Given the description of an element on the screen output the (x, y) to click on. 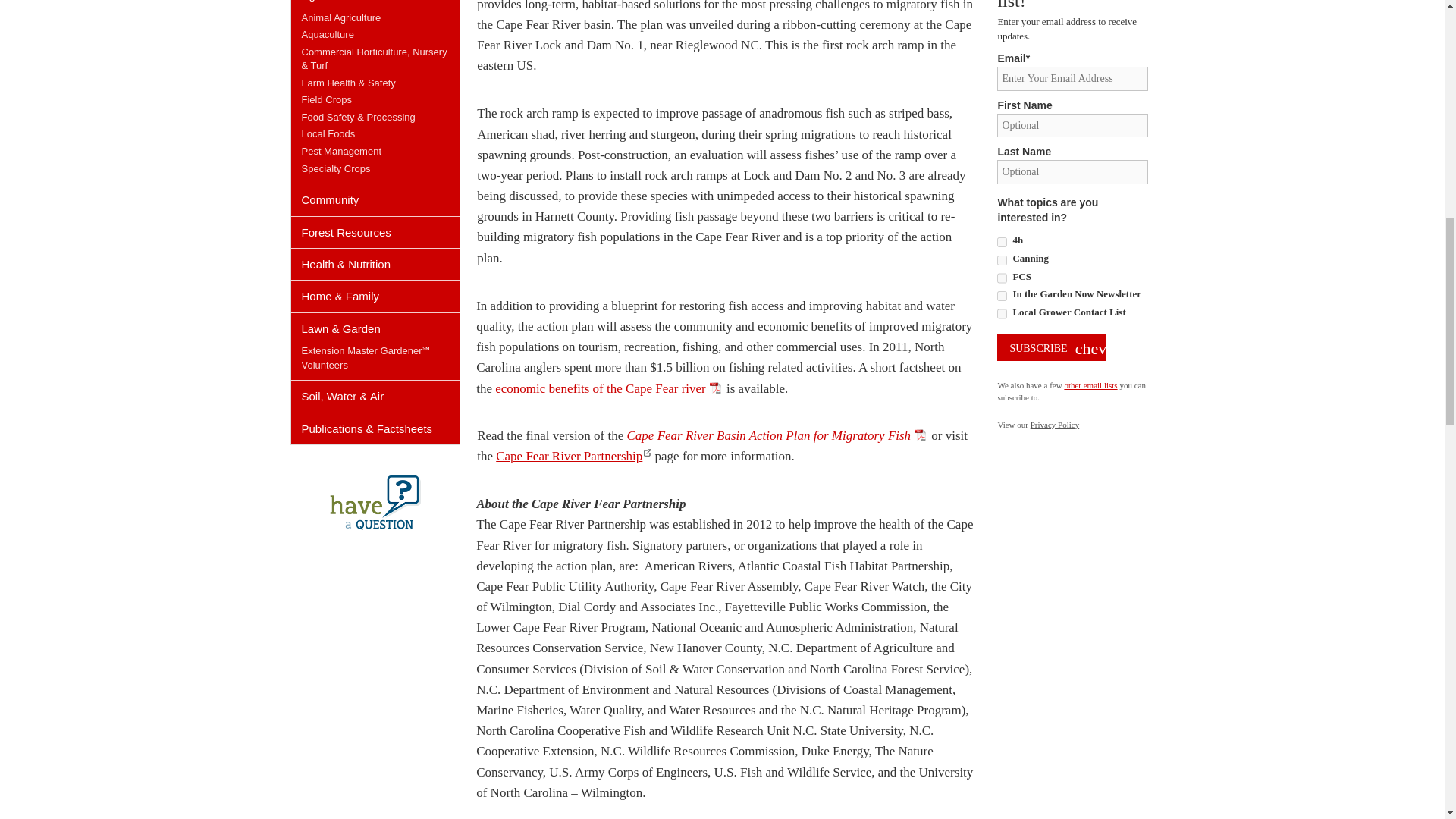
Aquaculture (327, 34)
Cape Fear River Partnership (573, 455)
Local Foods (328, 133)
Field Crops (326, 99)
Animal Agriculture (341, 17)
